Given the description of an element on the screen output the (x, y) to click on. 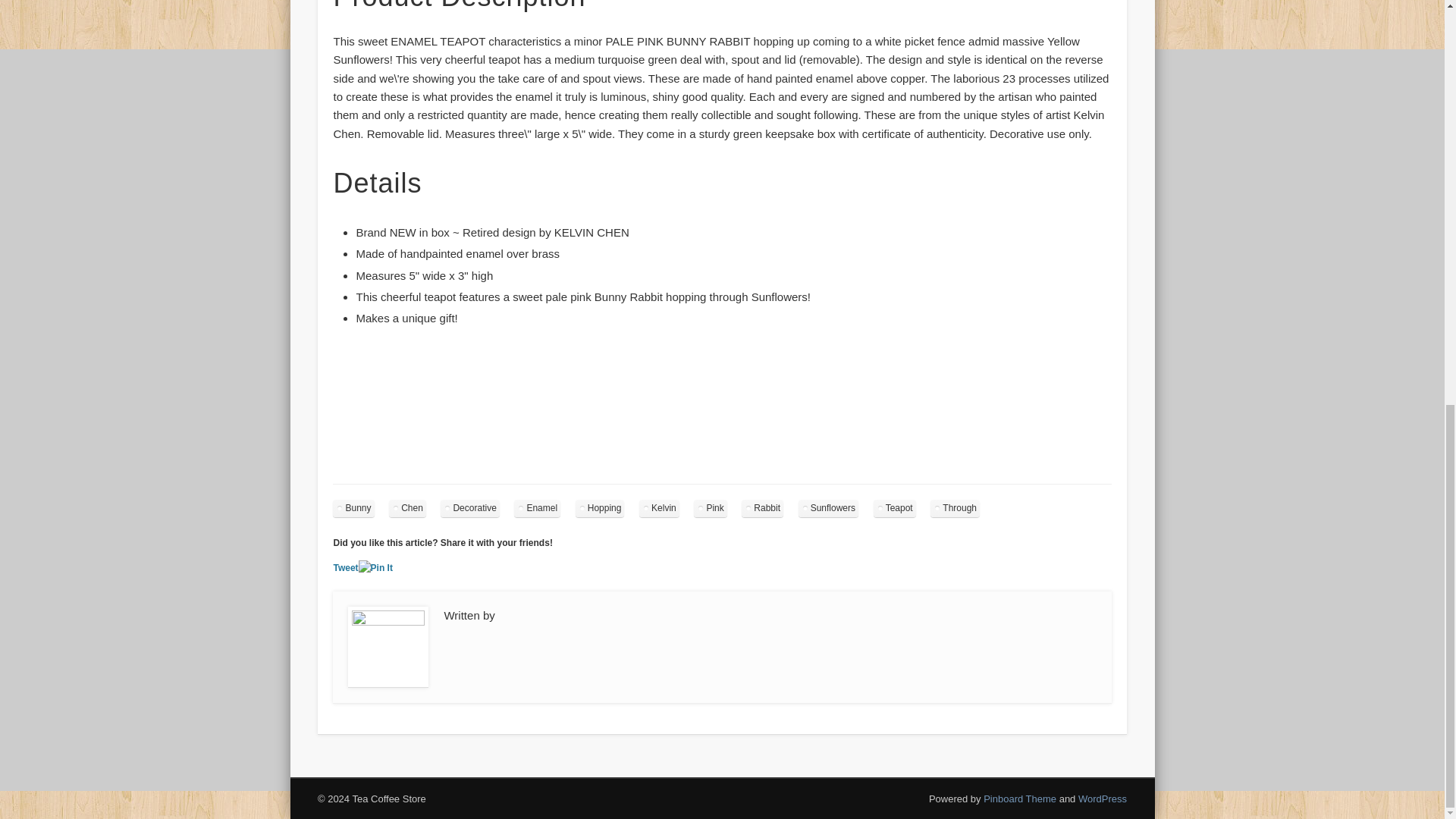
WordPress (1102, 798)
Pinboard Theme (1020, 798)
Pin It (375, 568)
